Given the description of an element on the screen output the (x, y) to click on. 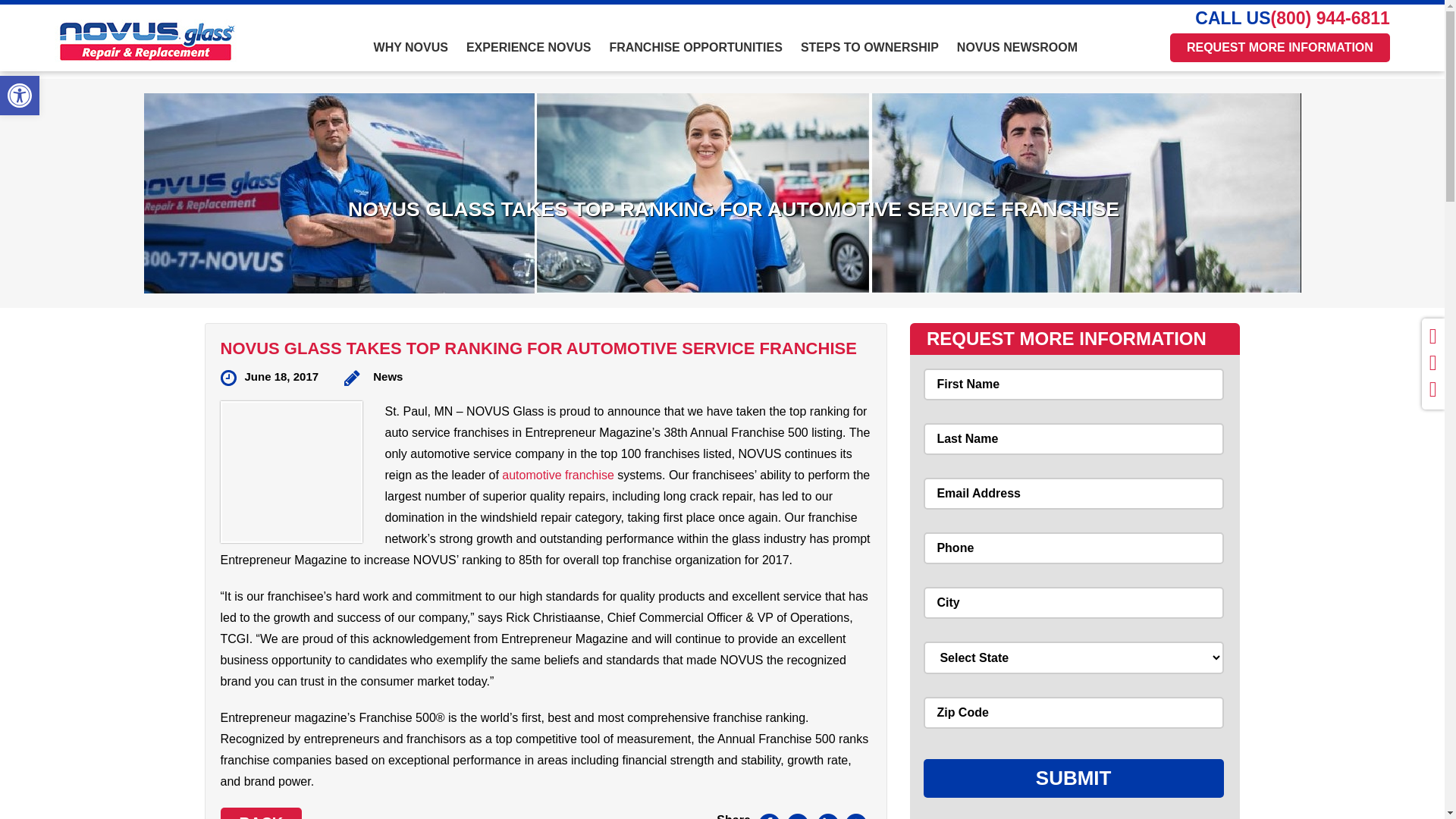
automotive franchise (558, 474)
Share on Linkedin (827, 816)
Submit (1073, 778)
WHY NOVUS (411, 55)
Share on Facebook (769, 816)
Accessibility Tools (19, 95)
NOVUS Glass (156, 40)
BACK (260, 813)
Accessibility Tools (19, 95)
